Given the description of an element on the screen output the (x, y) to click on. 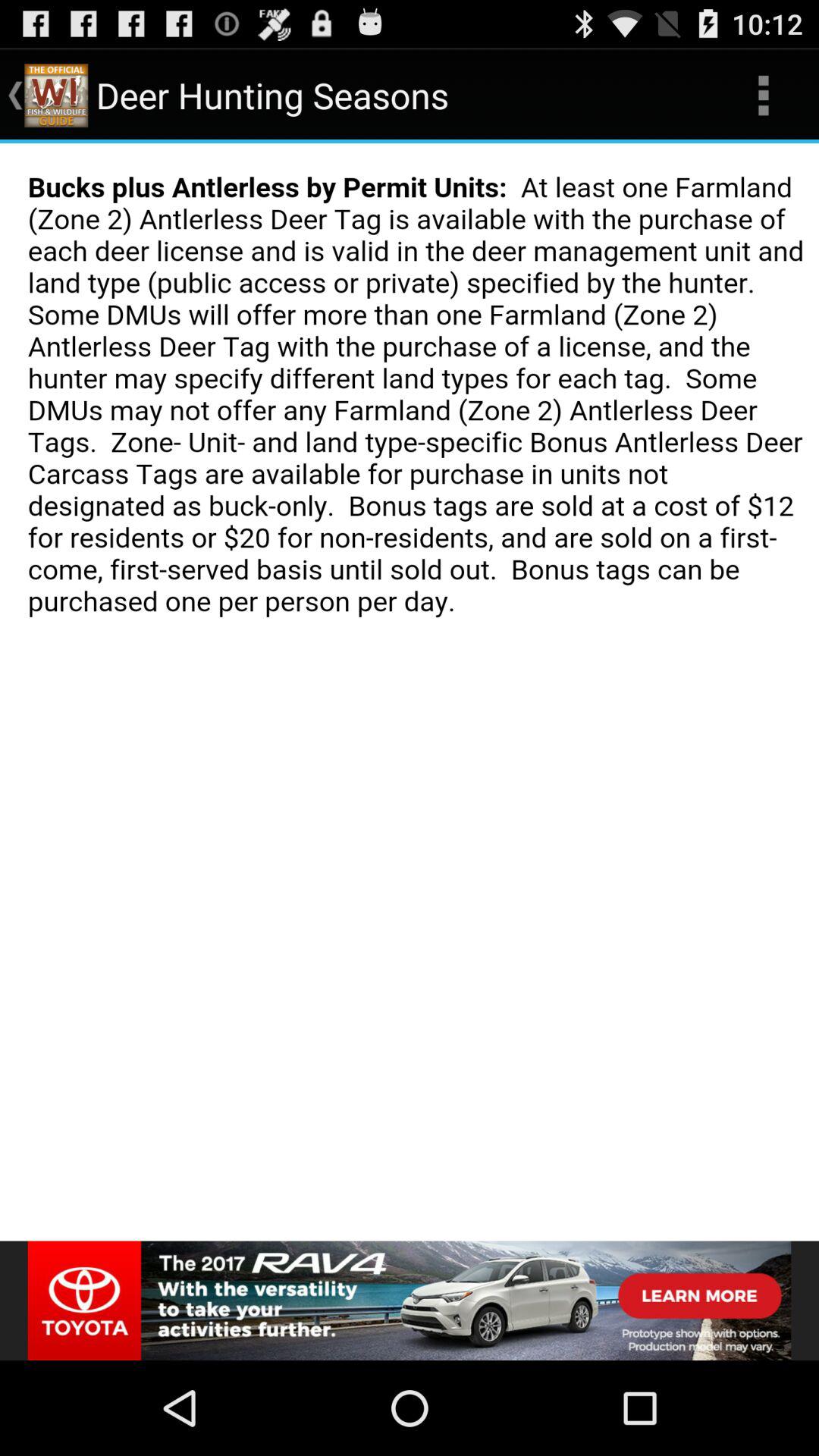
click to view toyota website (409, 1300)
